Given the description of an element on the screen output the (x, y) to click on. 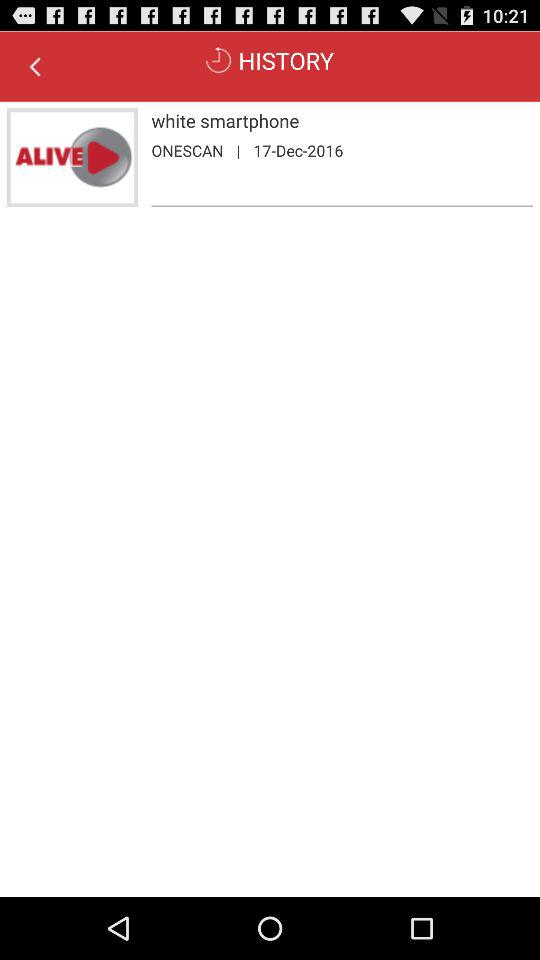
select the 17-dec-2016 app (298, 150)
